Given the description of an element on the screen output the (x, y) to click on. 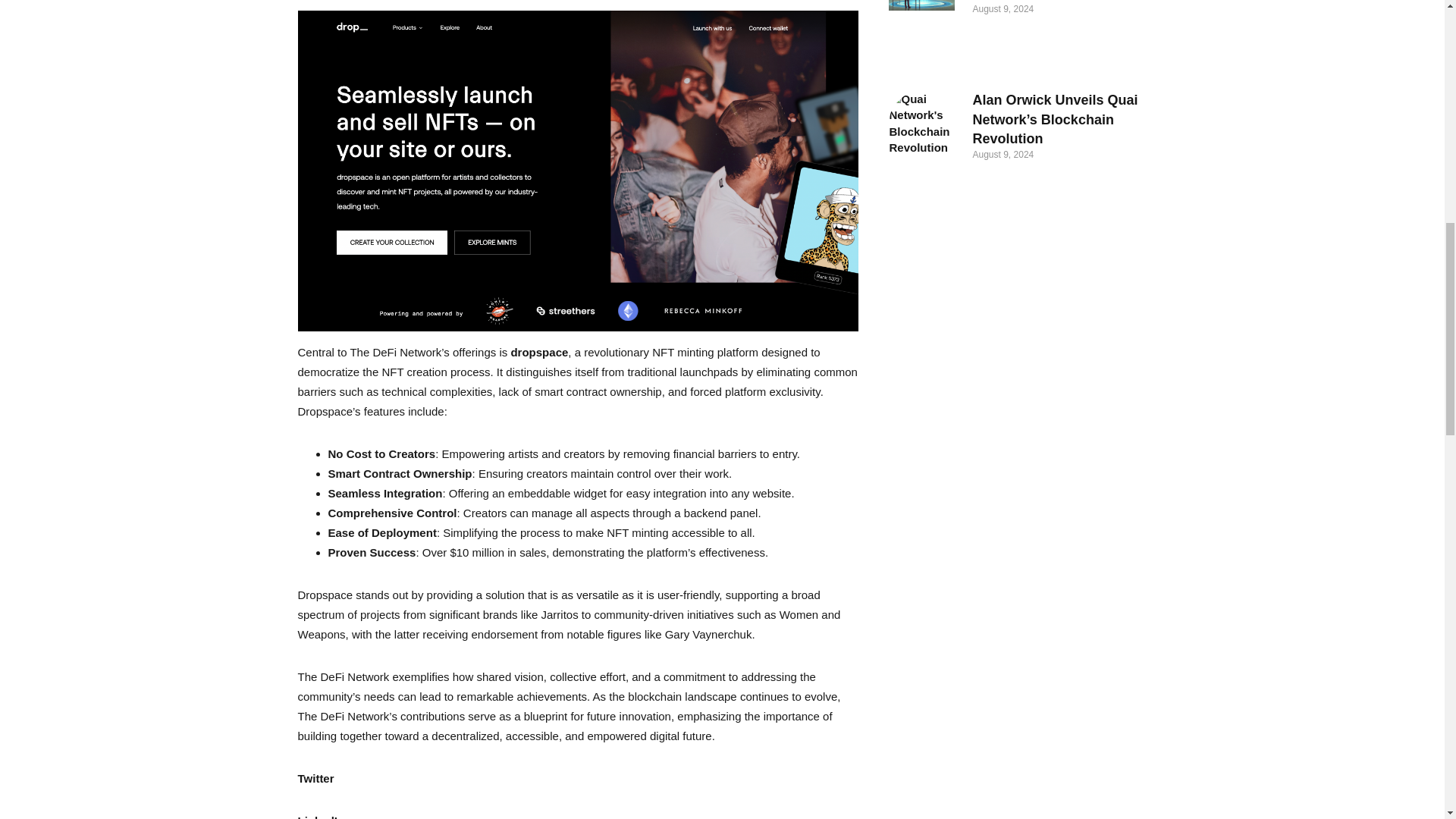
Twitter (315, 778)
dropspace (539, 351)
LinkedIn (320, 816)
